Given the description of an element on the screen output the (x, y) to click on. 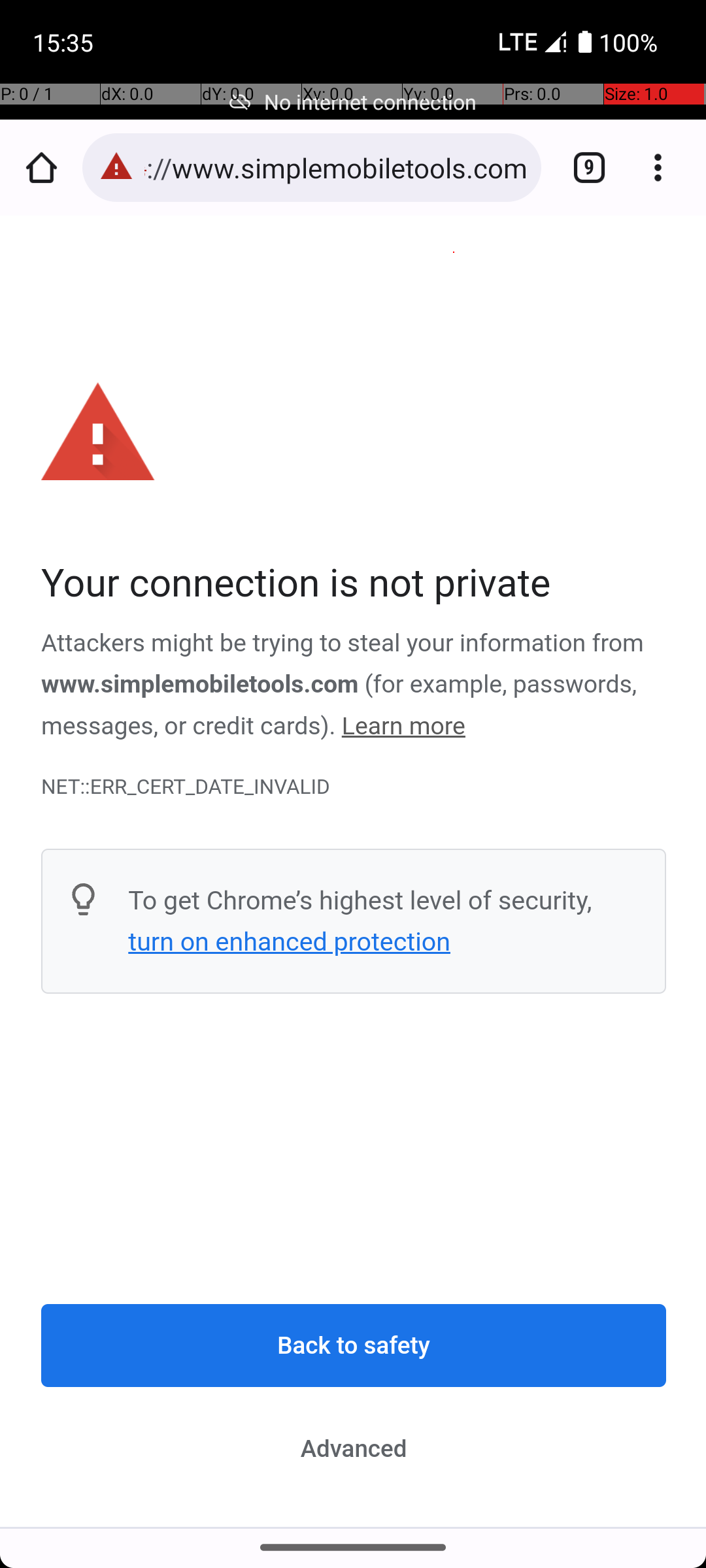
https://www.simplemobiletools.com/donate#paypal Element type: android.widget.EditText (335, 167)
www.simplemobiletools.com Element type: android.widget.TextView (200, 684)
